Given the description of an element on the screen output the (x, y) to click on. 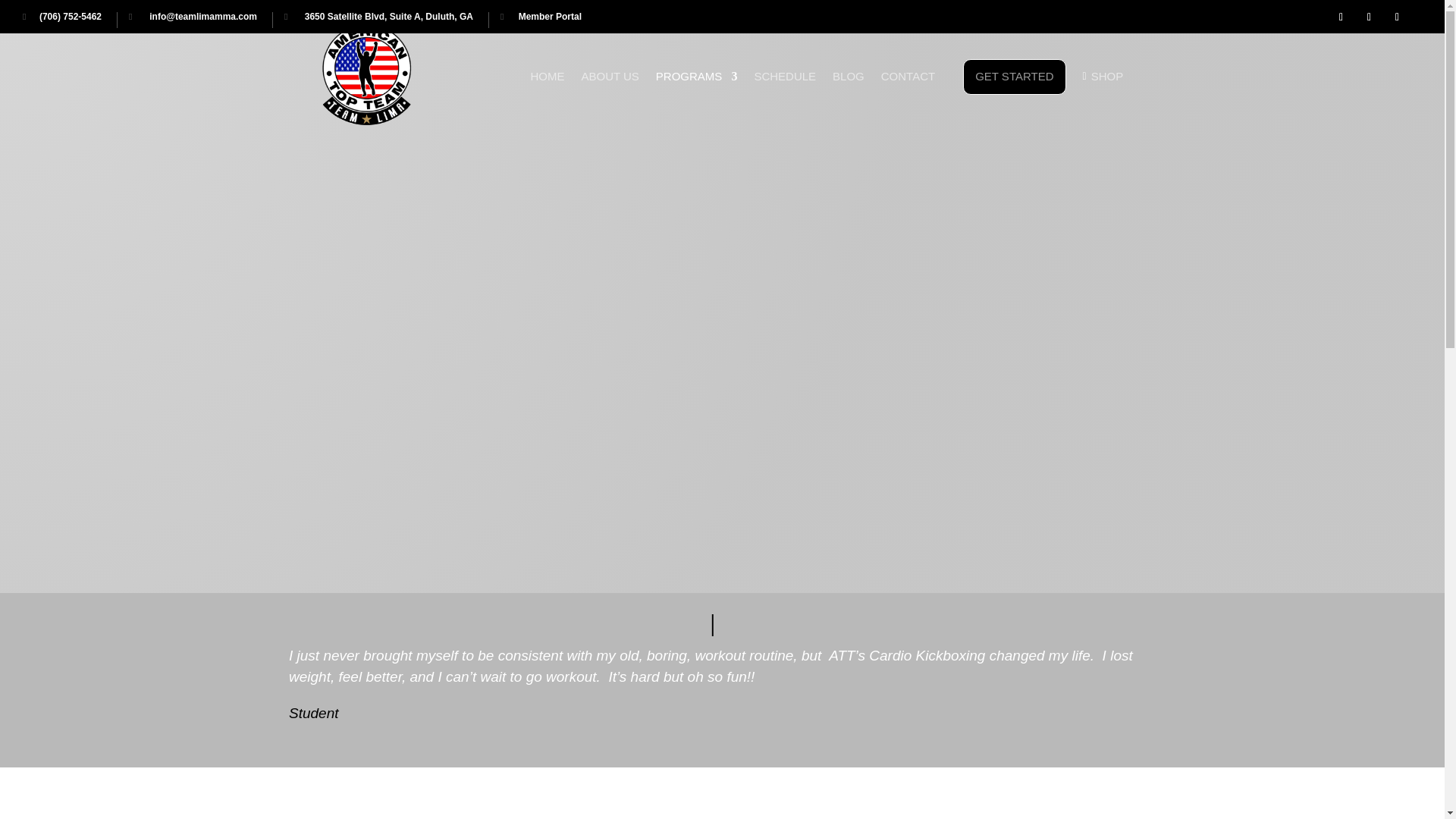
HOME (546, 100)
GET STARTED (1013, 76)
ABOUT US (609, 100)
Member Portal (540, 19)
BLOG (848, 100)
SHOP (1107, 100)
PROGRAMS (697, 100)
CONTACT (907, 100)
SCHEDULE (784, 100)
3650 Satellite Blvd, Suite A, Duluth, GA (378, 19)
